Given the description of an element on the screen output the (x, y) to click on. 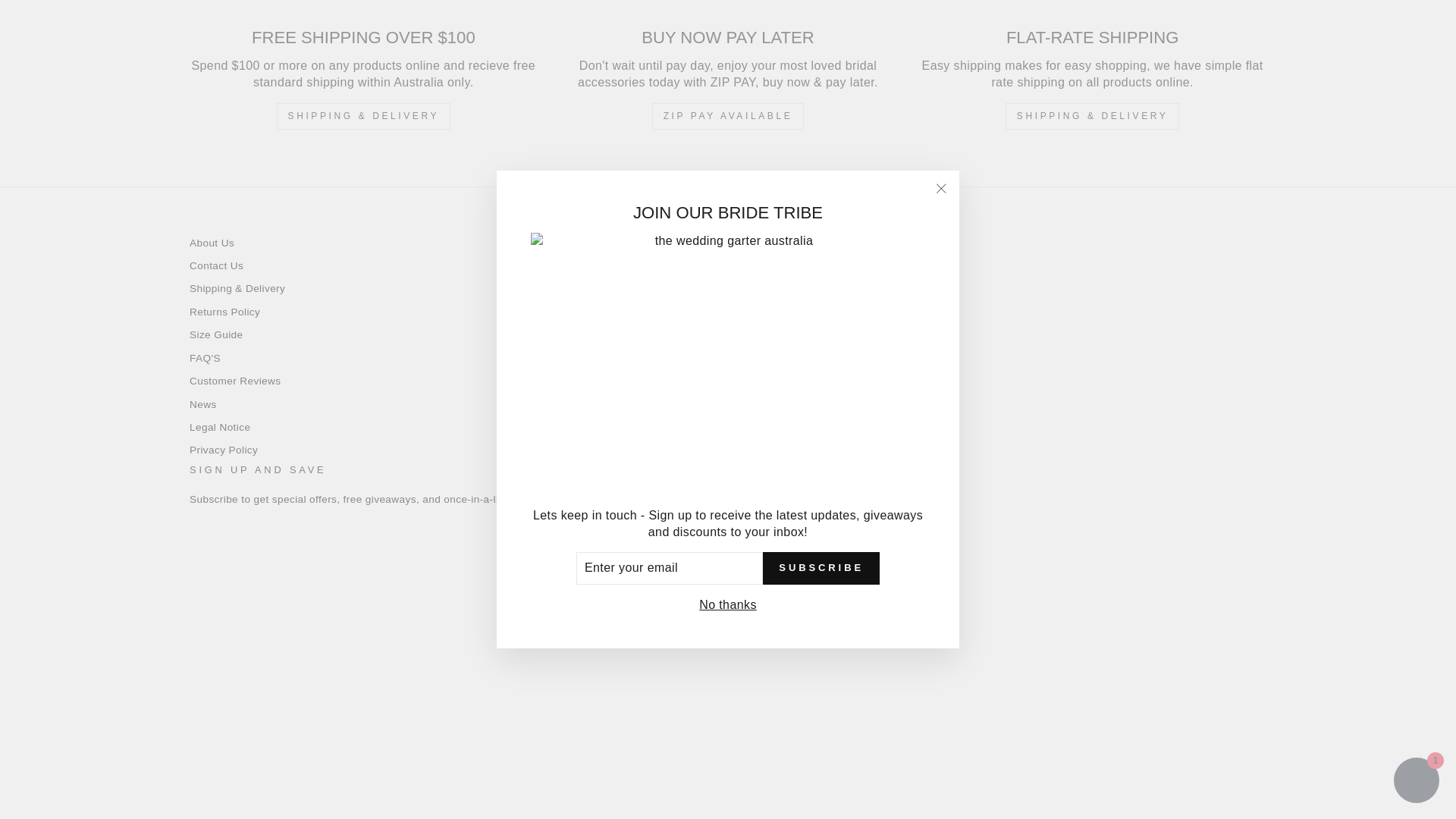
Apple Pay (640, 705)
Mastercard (710, 705)
PayPal (745, 705)
Visa (849, 705)
Union Pay (814, 705)
Shop Pay (779, 705)
Google Pay (675, 705)
American Express (605, 705)
